Given the description of an element on the screen output the (x, y) to click on. 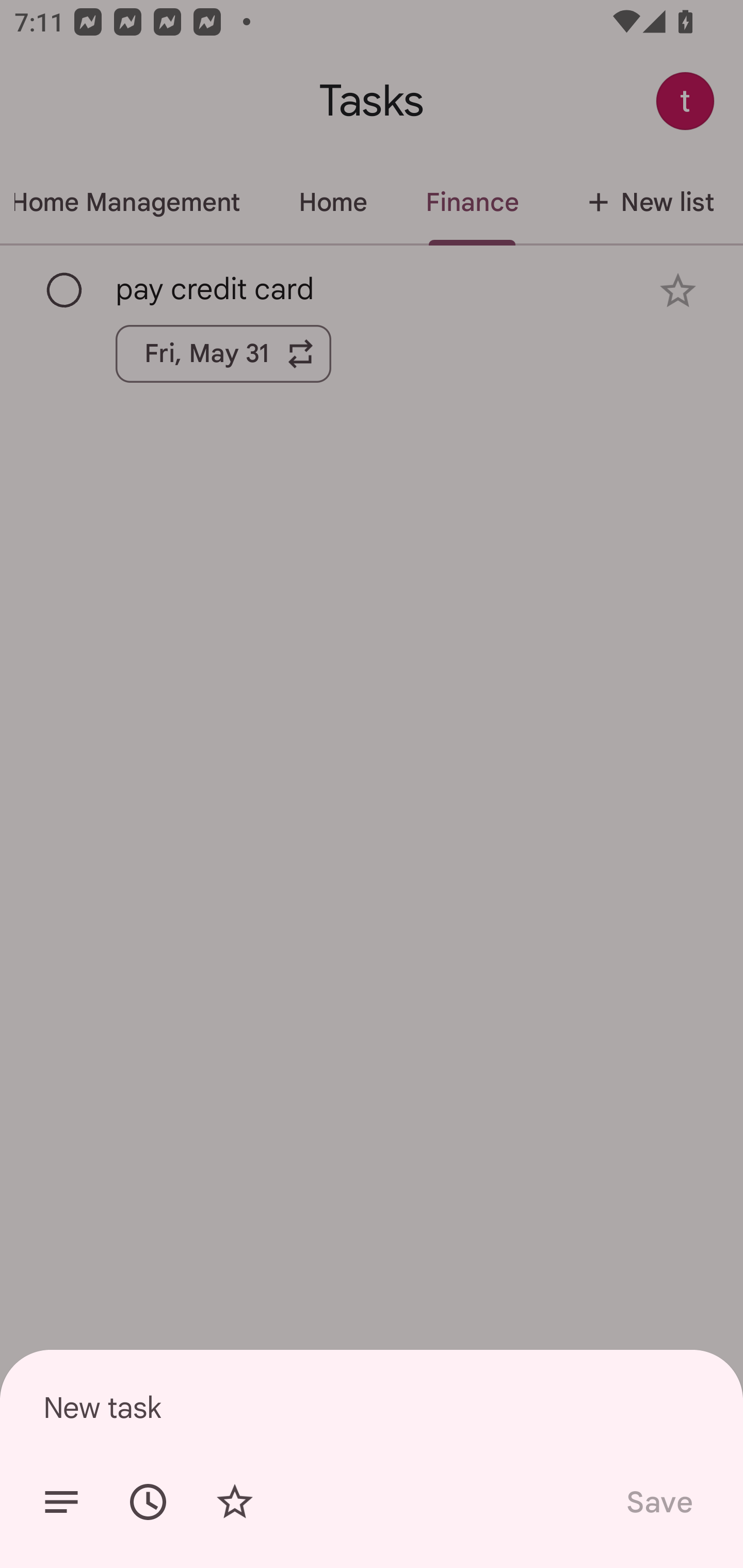
New task (371, 1407)
Save (659, 1501)
Add details (60, 1501)
Set date/time (147, 1501)
Add star (234, 1501)
